Given the description of an element on the screen output the (x, y) to click on. 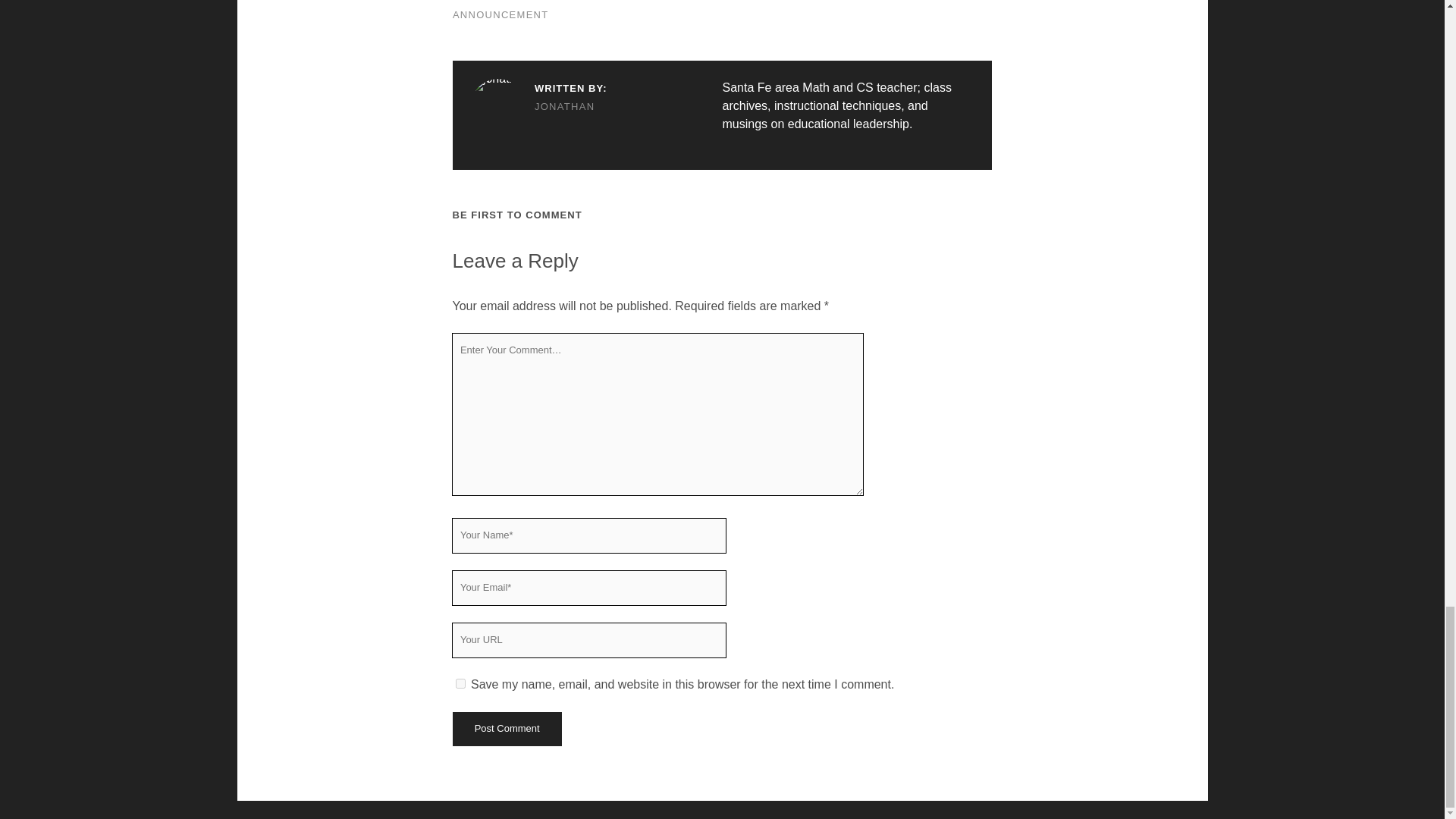
Post Comment (505, 728)
Post Comment (505, 728)
yes (459, 683)
JONATHAN (538, 106)
View all posts in announcement (500, 14)
Posts by jonathan (538, 106)
ANNOUNCEMENT (500, 14)
